Given the description of an element on the screen output the (x, y) to click on. 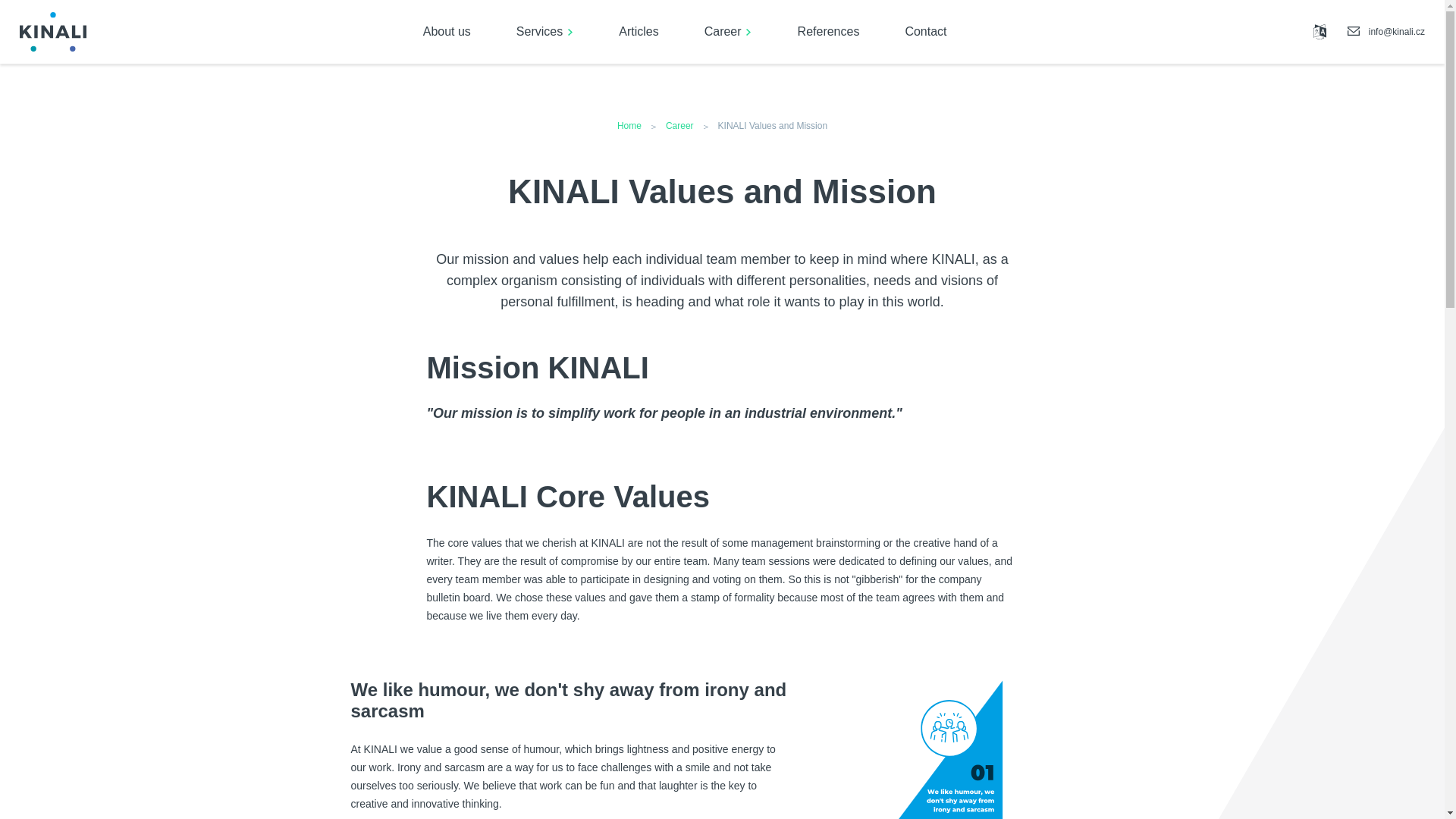
Services (544, 31)
Contact (925, 31)
References (828, 31)
About us (446, 31)
Career (727, 31)
Articles (638, 31)
